Given the description of an element on the screen output the (x, y) to click on. 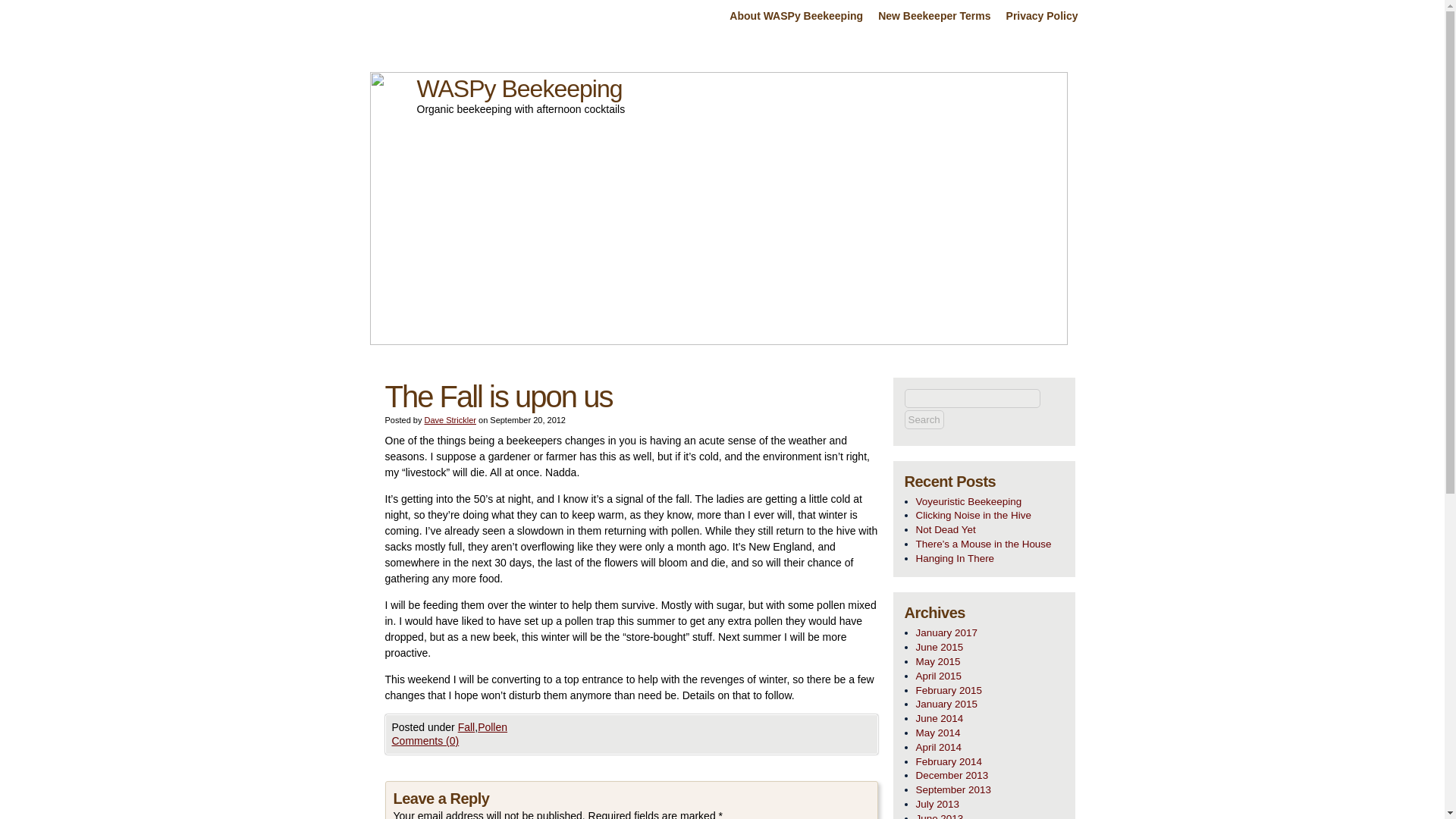
April 2015 (989, 676)
Not Dead Yet (989, 530)
Pollen (491, 727)
Voyeuristic Beekeeping (989, 501)
New Beekeeper Terms (933, 16)
WASPy Beekeeping (519, 87)
February 2014 (989, 762)
February 2015 (989, 690)
Fall (467, 727)
WASPy Beekeeping (519, 87)
January 2017 (989, 633)
Privacy Policy (1042, 16)
June 2014 (989, 718)
May 2015 (989, 662)
April 2014 (989, 748)
